Given the description of an element on the screen output the (x, y) to click on. 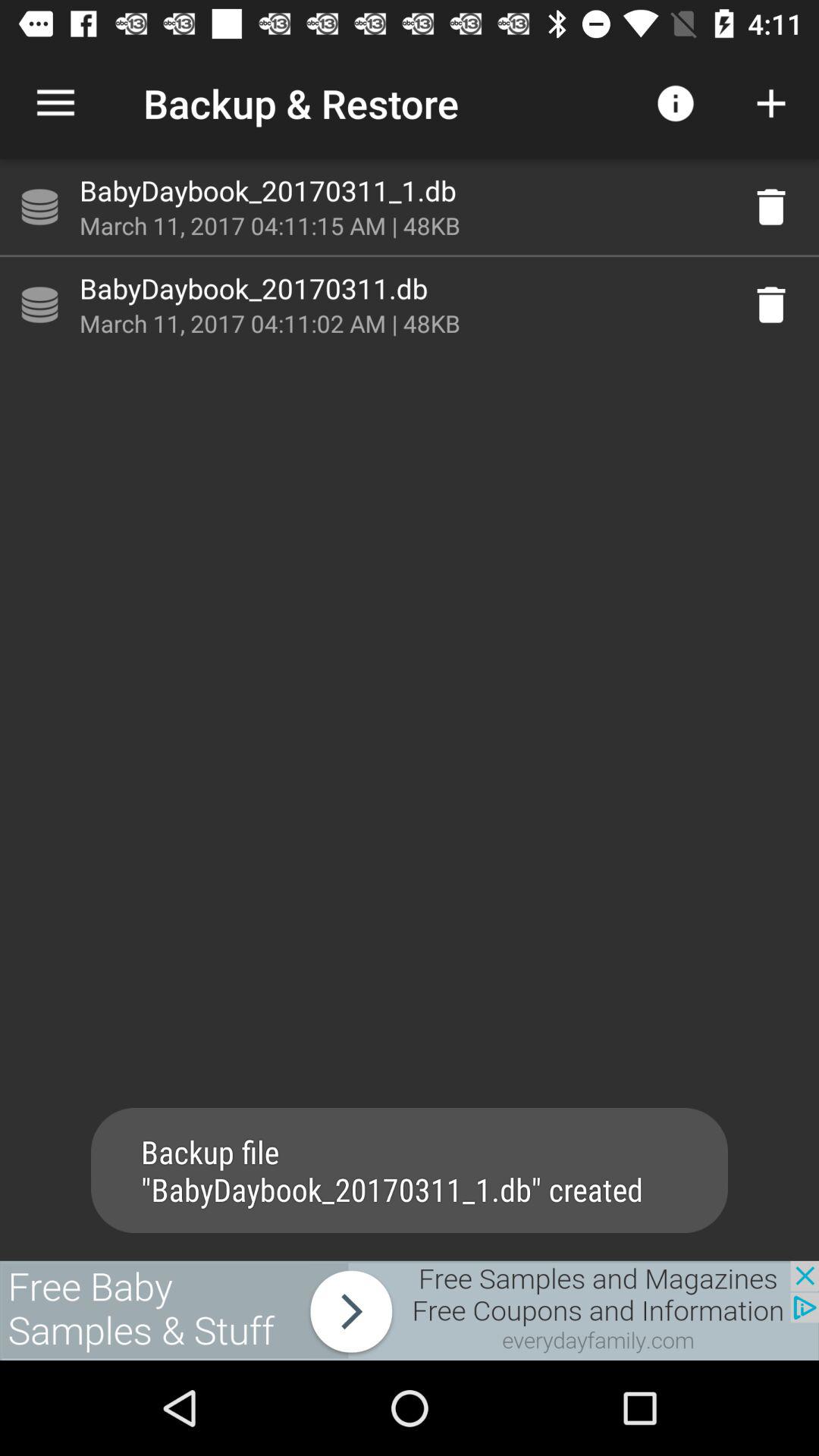
trash item (771, 304)
